Given the description of an element on the screen output the (x, y) to click on. 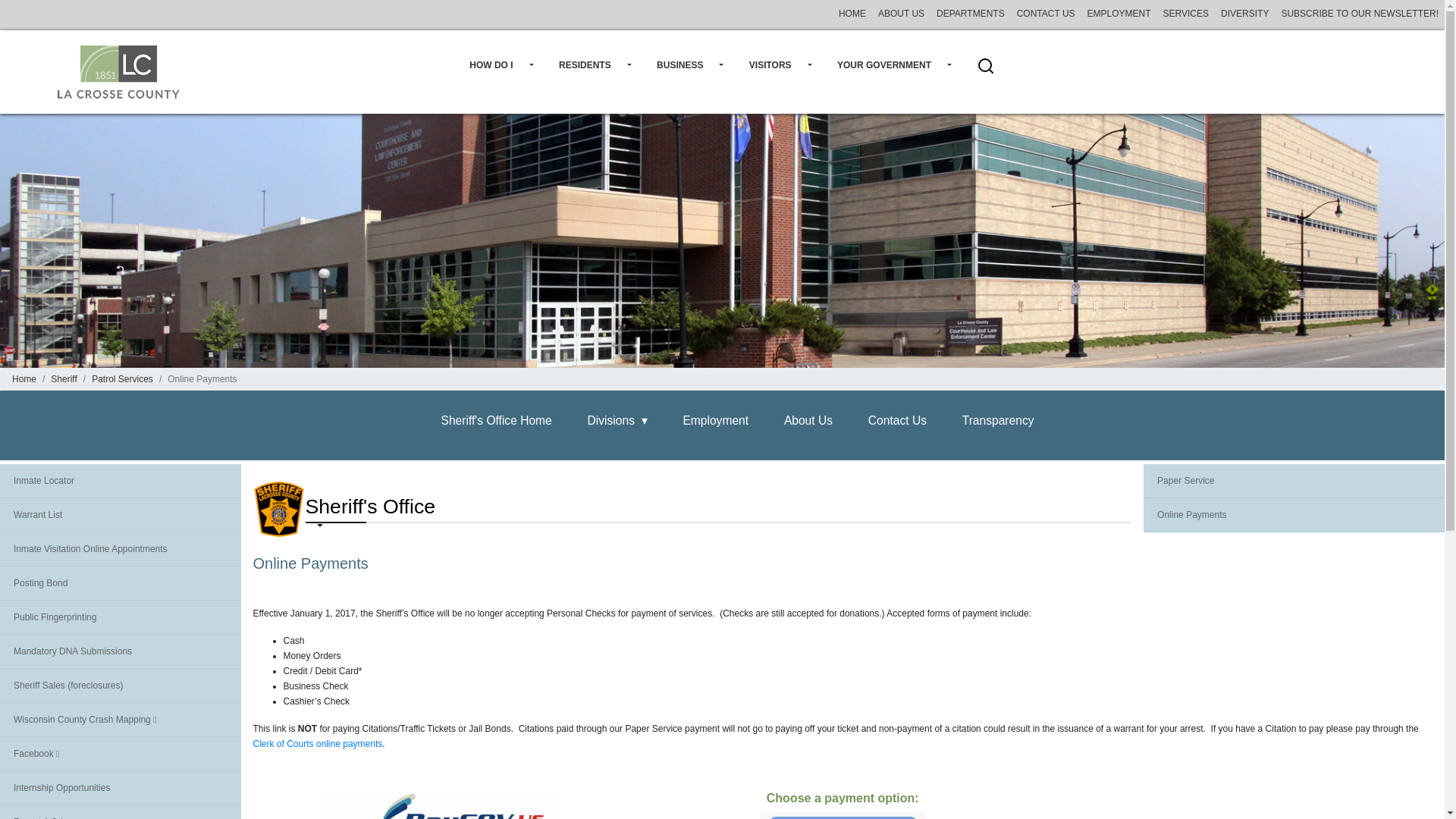
ABOUT US (901, 12)
DIVERSITY (1244, 12)
CONTACT US (1045, 12)
Sheriff's Office (277, 509)
EMPLOYMENT (1119, 12)
DEPARTMENTS (970, 12)
HOW DO I (501, 70)
pay-paperservice (843, 815)
SERVICES (1185, 12)
HOME (852, 12)
